Given the description of an element on the screen output the (x, y) to click on. 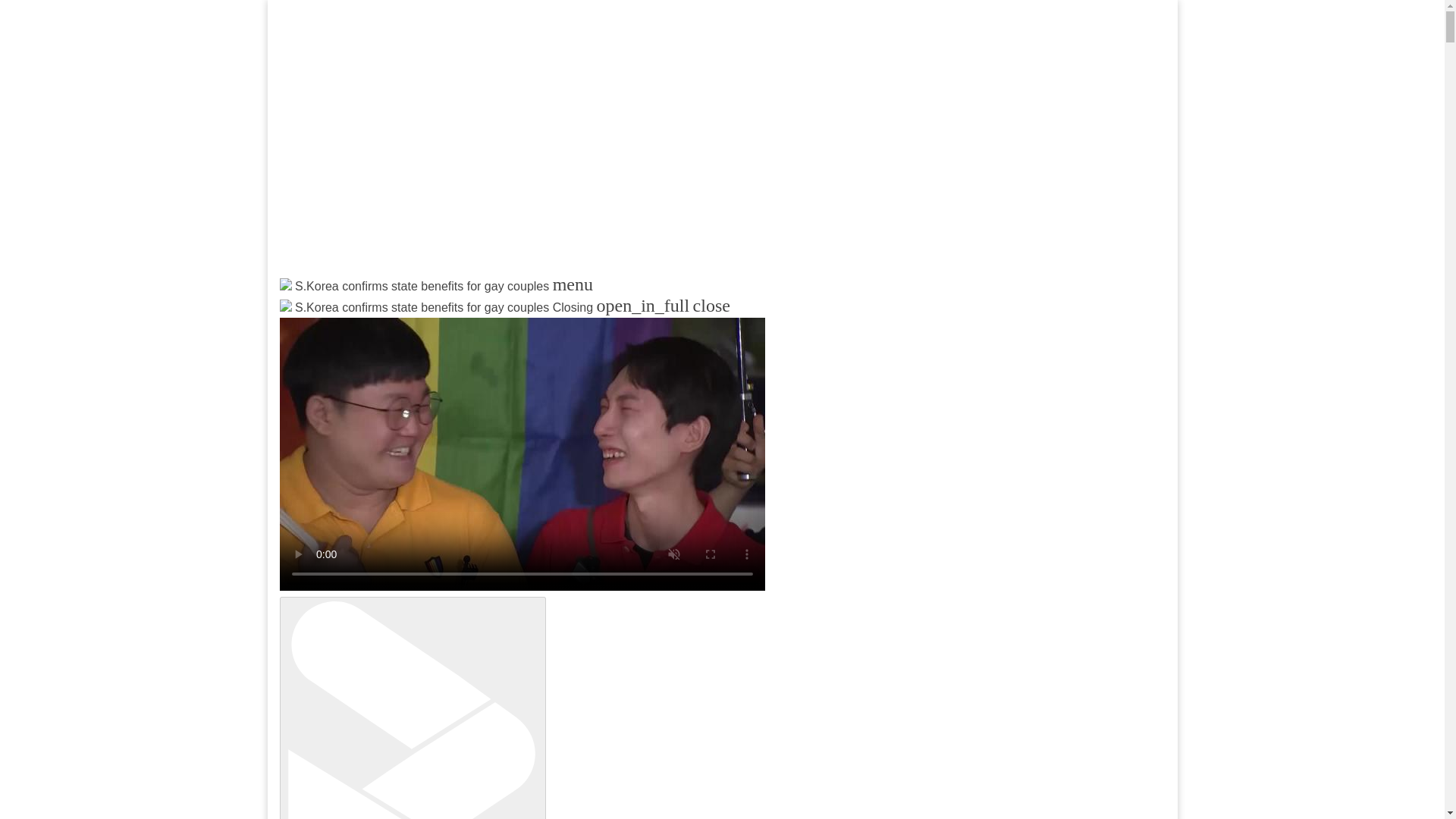
Skope Entertainment Inc (462, 323)
Skope Entertainment Inc (462, 323)
YouTube video player (478, 149)
